Given the description of an element on the screen output the (x, y) to click on. 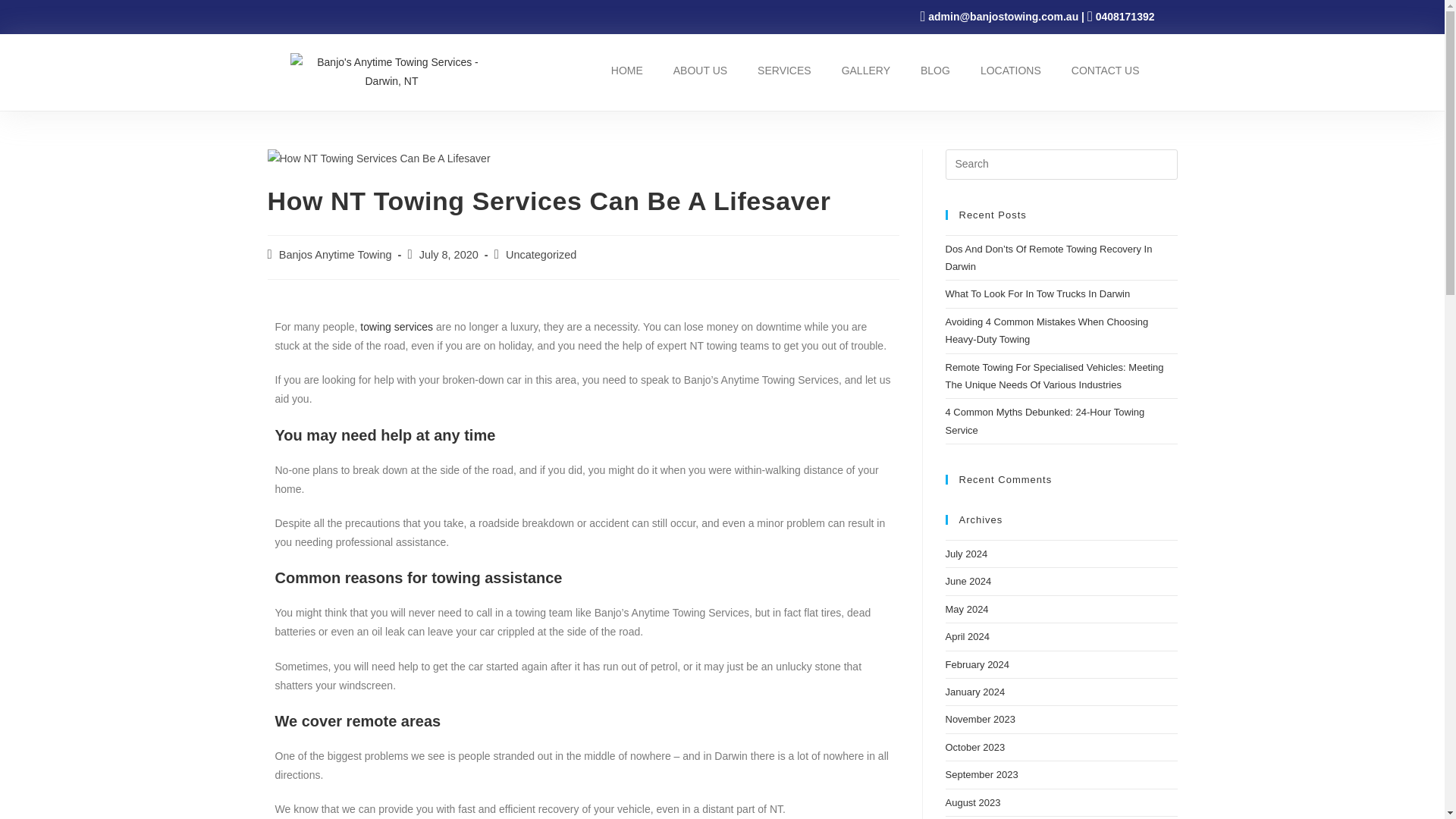
SERVICES (784, 70)
ABOUT US (700, 70)
BLOG (935, 70)
CONTACT US (1105, 70)
GALLERY (866, 70)
Posts by Banjos Anytime Towing (335, 254)
0408171392 (1125, 16)
LOCATIONS (1011, 70)
HOME (626, 70)
